Given the description of an element on the screen output the (x, y) to click on. 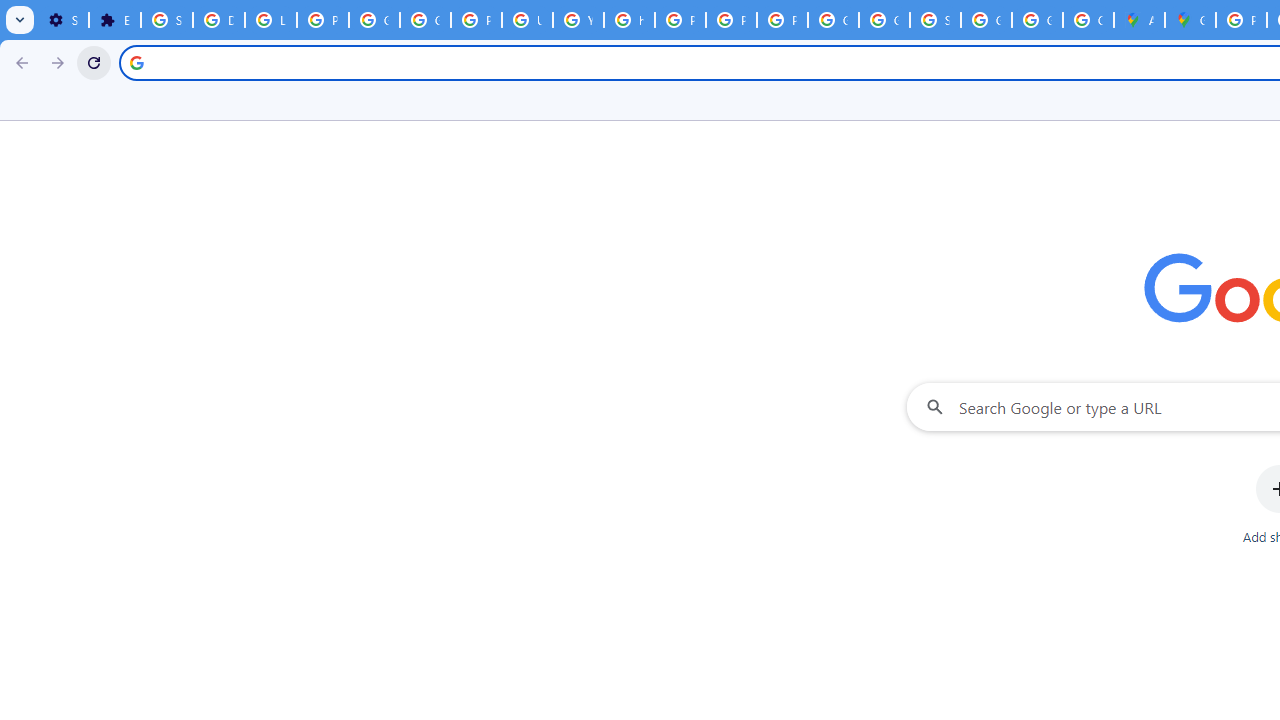
Settings - On startup (63, 20)
Sign in - Google Accounts (166, 20)
Privacy Help Center - Policies Help (680, 20)
Google Maps (1189, 20)
https://scholar.google.com/ (629, 20)
Delete photos & videos - Computer - Google Photos Help (218, 20)
